Given the description of an element on the screen output the (x, y) to click on. 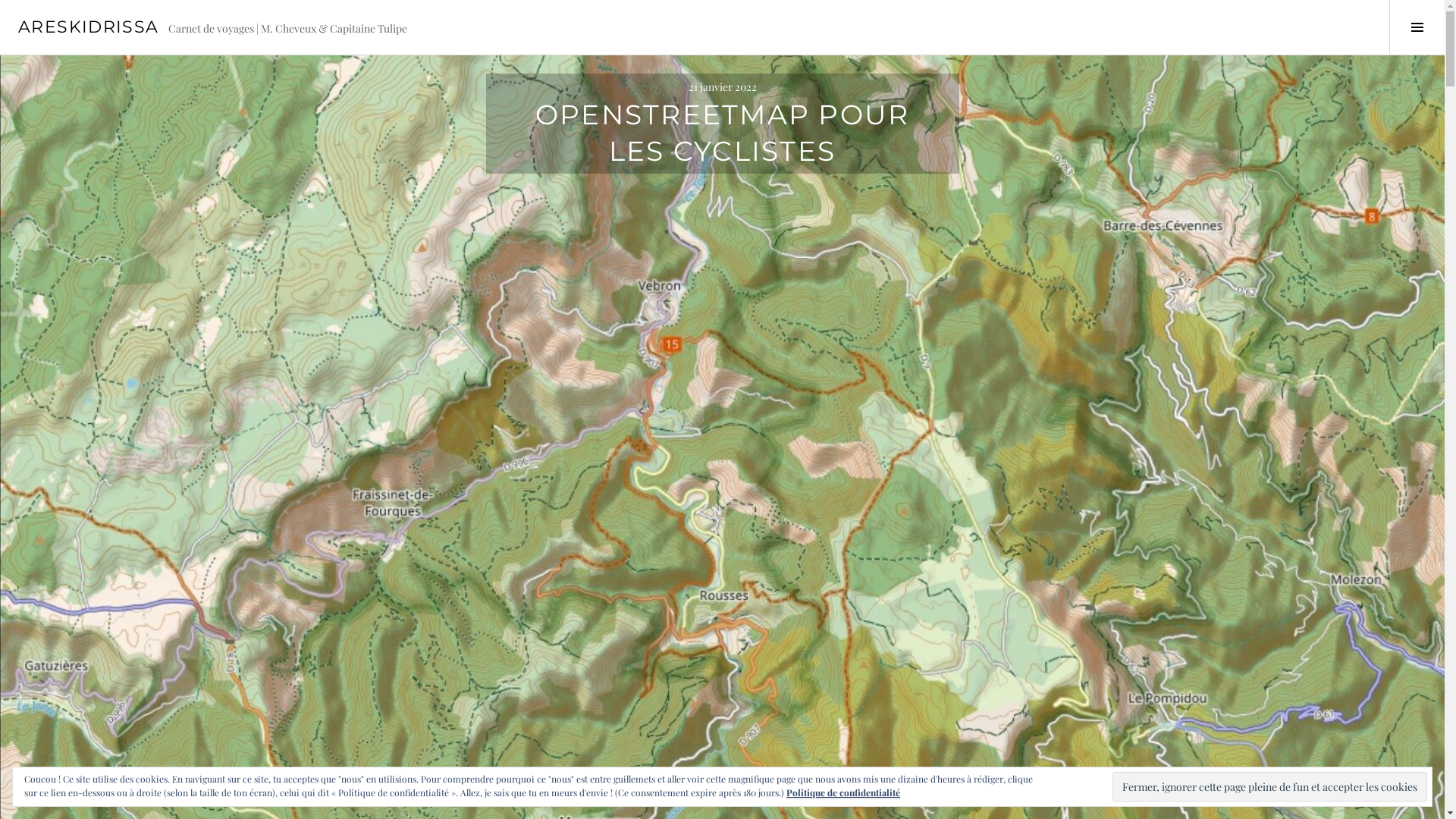
ARESKIDRISSA Element type: text (88, 26)
Toggle Sidebar Element type: text (1416, 27)
